Given the description of an element on the screen output the (x, y) to click on. 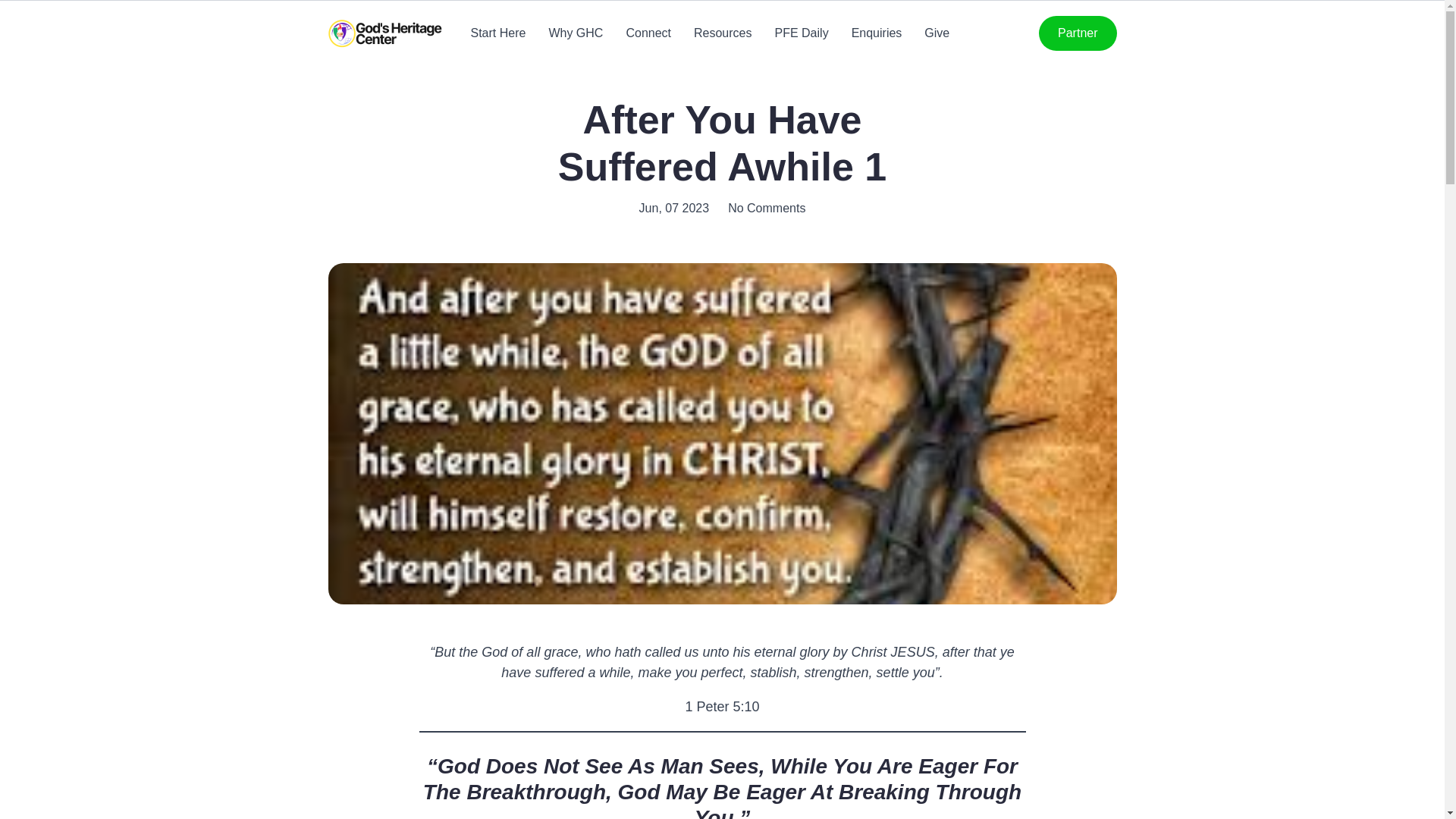
Why GHC (575, 33)
Give (936, 33)
Resources (721, 33)
Partner (1077, 32)
Enquiries (877, 33)
Start Here (497, 33)
PFE Daily (801, 33)
Connect (647, 33)
